Given the description of an element on the screen output the (x, y) to click on. 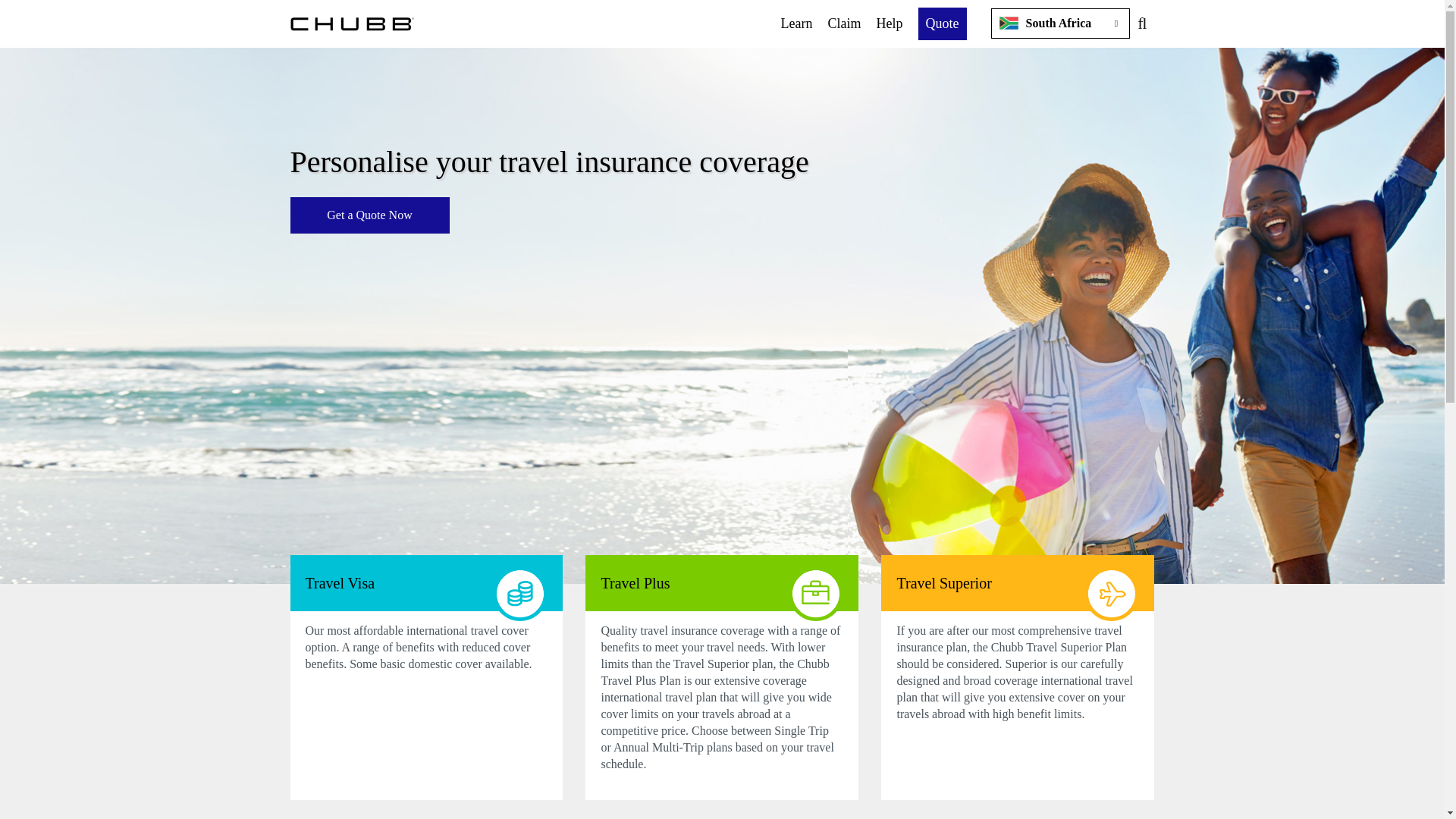
Claim (844, 23)
Quote (942, 23)
Learn (796, 23)
South Africa (1063, 23)
Help (889, 23)
